Given the description of an element on the screen output the (x, y) to click on. 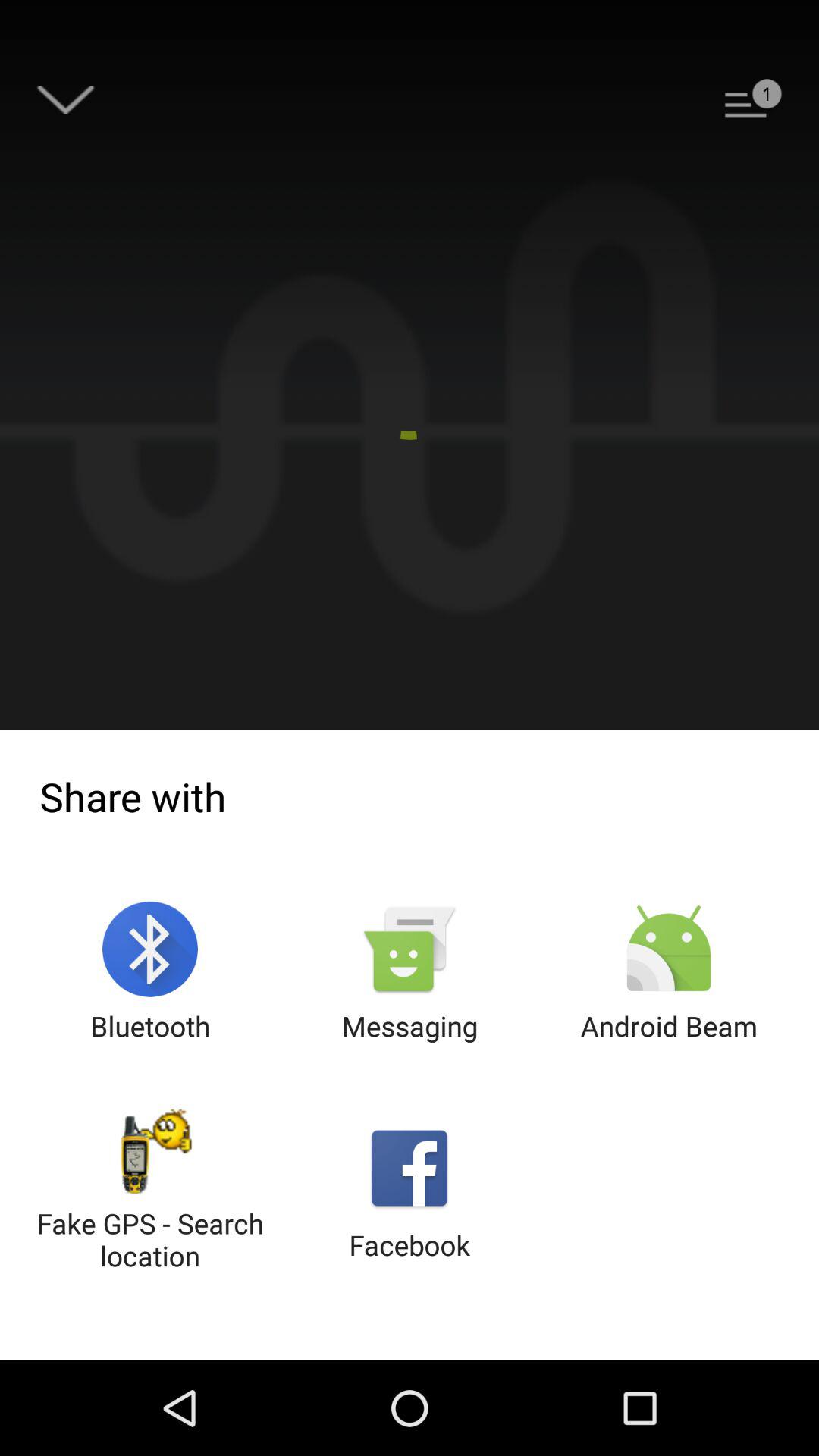
press the item above the facebook (409, 972)
